Given the description of an element on the screen output the (x, y) to click on. 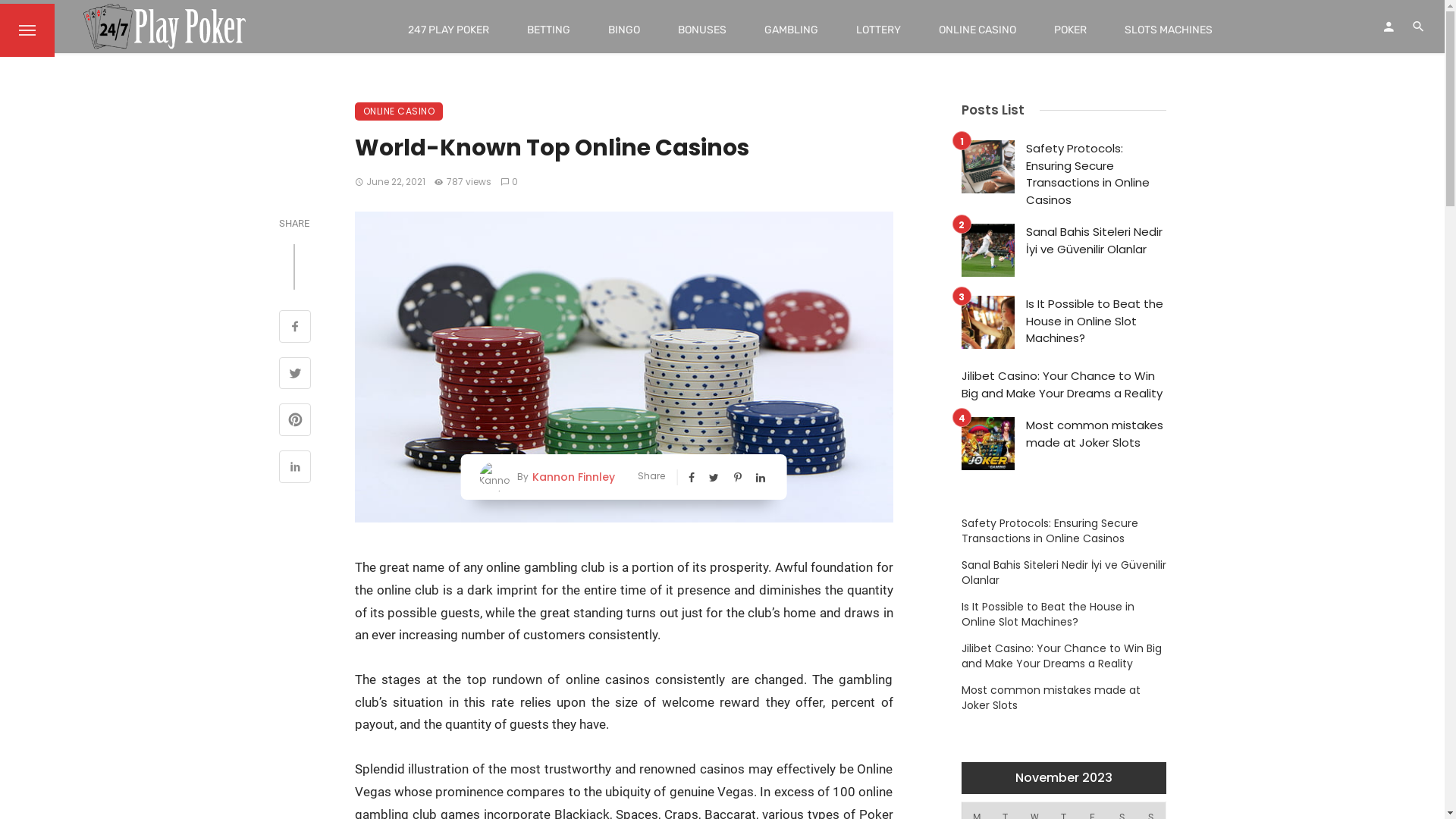
BINGO Element type: text (623, 29)
ONLINE CASINO Element type: text (398, 111)
LOTTERY Element type: text (878, 29)
Share on Facebook Element type: hover (295, 328)
GAMBLING Element type: text (791, 29)
Share on Pinterest Element type: hover (295, 421)
Is It Possible to Beat the House in Online Slot Machines? Element type: text (1063, 614)
Most common mistakes made at Joker Slots Element type: text (1095, 434)
SLOTS MACHINES Element type: text (1168, 29)
BETTING Element type: text (548, 29)
Kannon Finnley Element type: text (571, 476)
Share on Linkedin Element type: hover (295, 468)
0 Element type: text (509, 181)
Most common mistakes made at Joker Slots Element type: text (1063, 697)
ONLINE CASINO Element type: text (977, 29)
247 PLAY POKER Element type: text (448, 29)
Share on Twitter Element type: hover (295, 375)
POKER Element type: text (1070, 29)
Is It Possible to Beat the House in Online Slot Machines? Element type: text (1095, 321)
BONUSES Element type: text (701, 29)
